Given the description of an element on the screen output the (x, y) to click on. 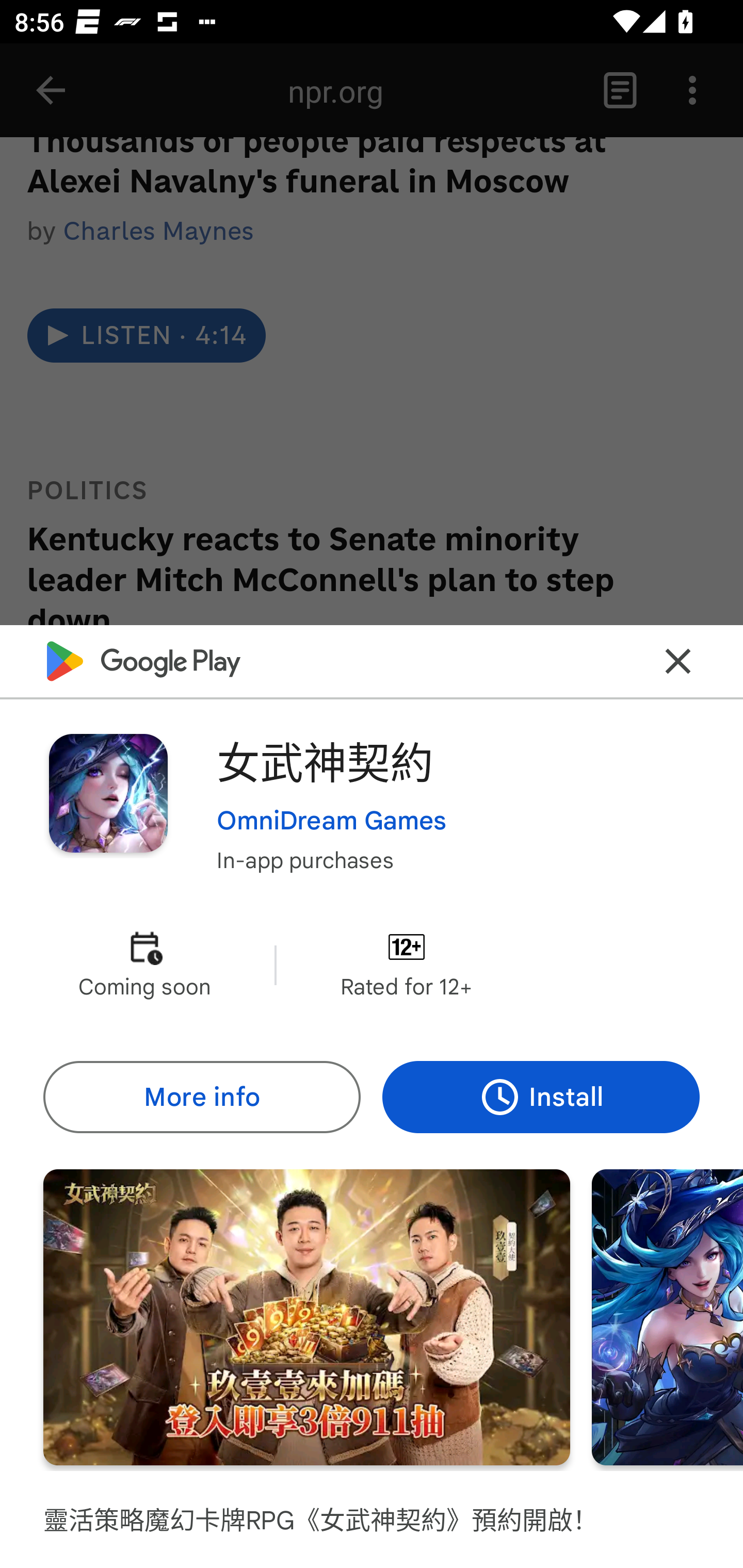
Close (677, 661)
Image of app or game icon for 女武神契約 (108, 792)
OmniDream Games (331, 820)
More info (201, 1097)
Install (540, 1097)
Screenshot "1" of "5" (306, 1317)
